Given the description of an element on the screen output the (x, y) to click on. 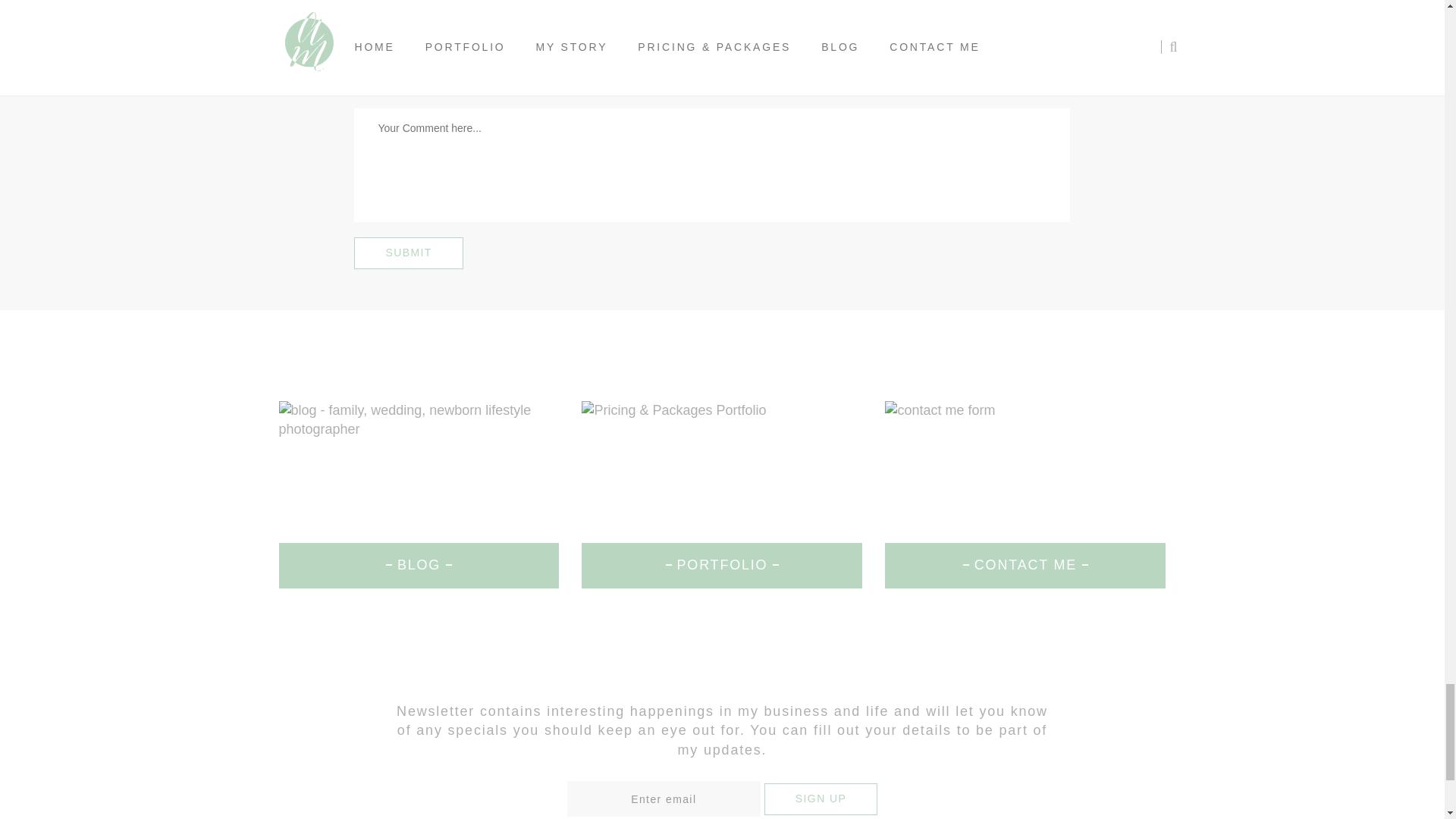
Submit (408, 253)
SIGN UP (820, 798)
Submit (408, 253)
